Given the description of an element on the screen output the (x, y) to click on. 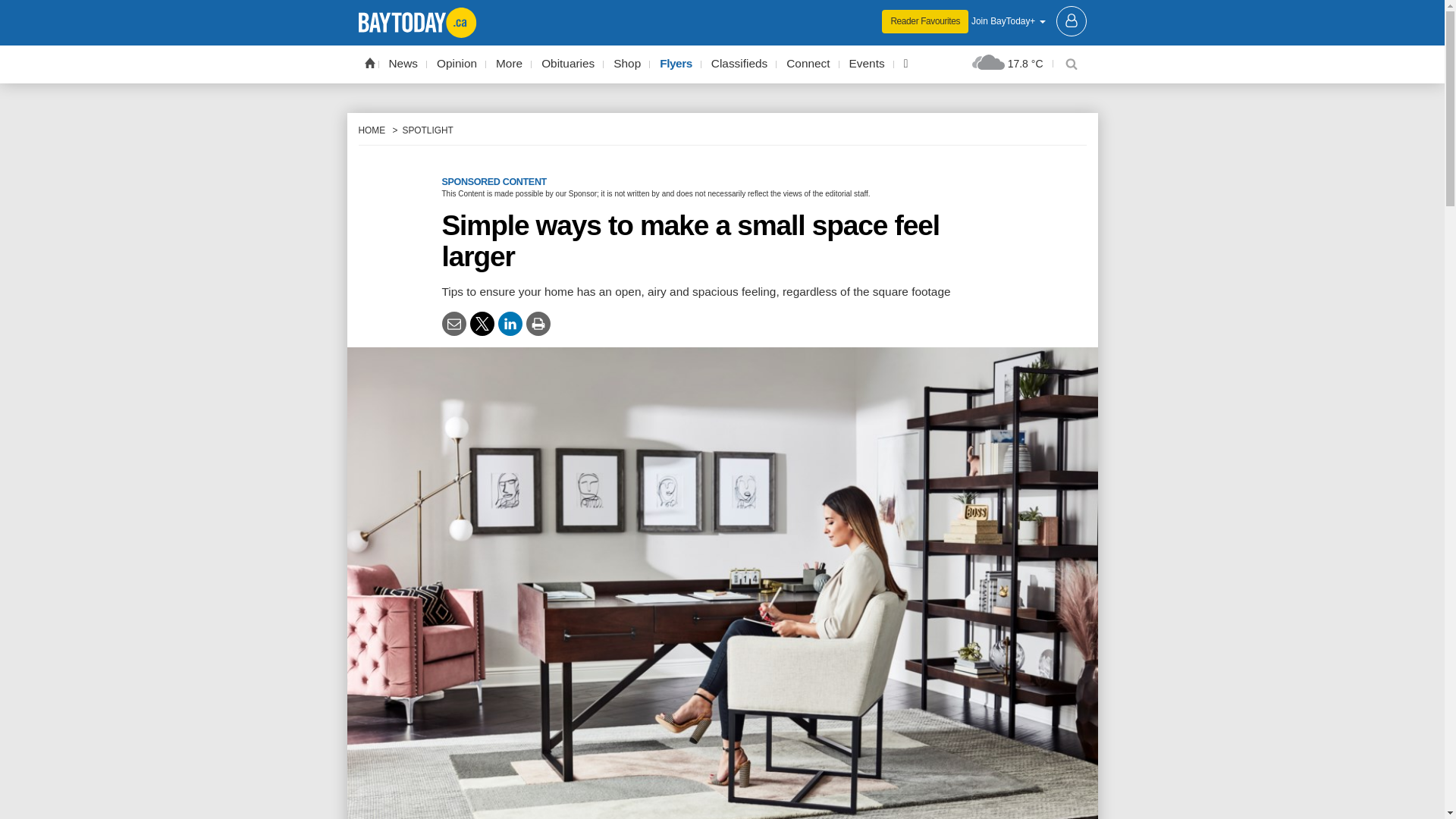
Reader Favourites (925, 21)
Home (368, 62)
News (403, 64)
